Given the description of an element on the screen output the (x, y) to click on. 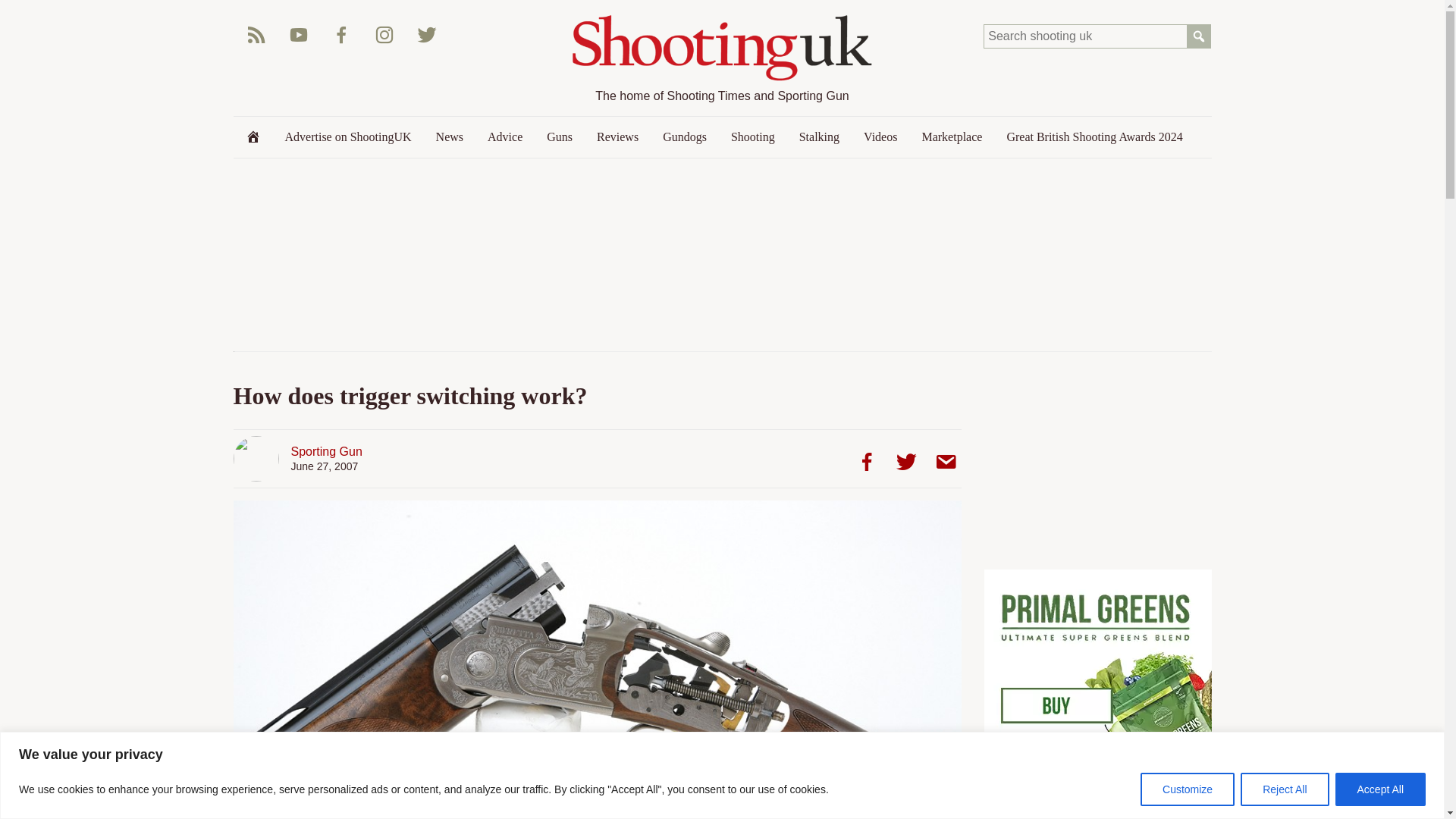
Customize (1187, 788)
Subscribe Now (1097, 816)
Accept All (1380, 788)
Reject All (1283, 788)
